Given the description of an element on the screen output the (x, y) to click on. 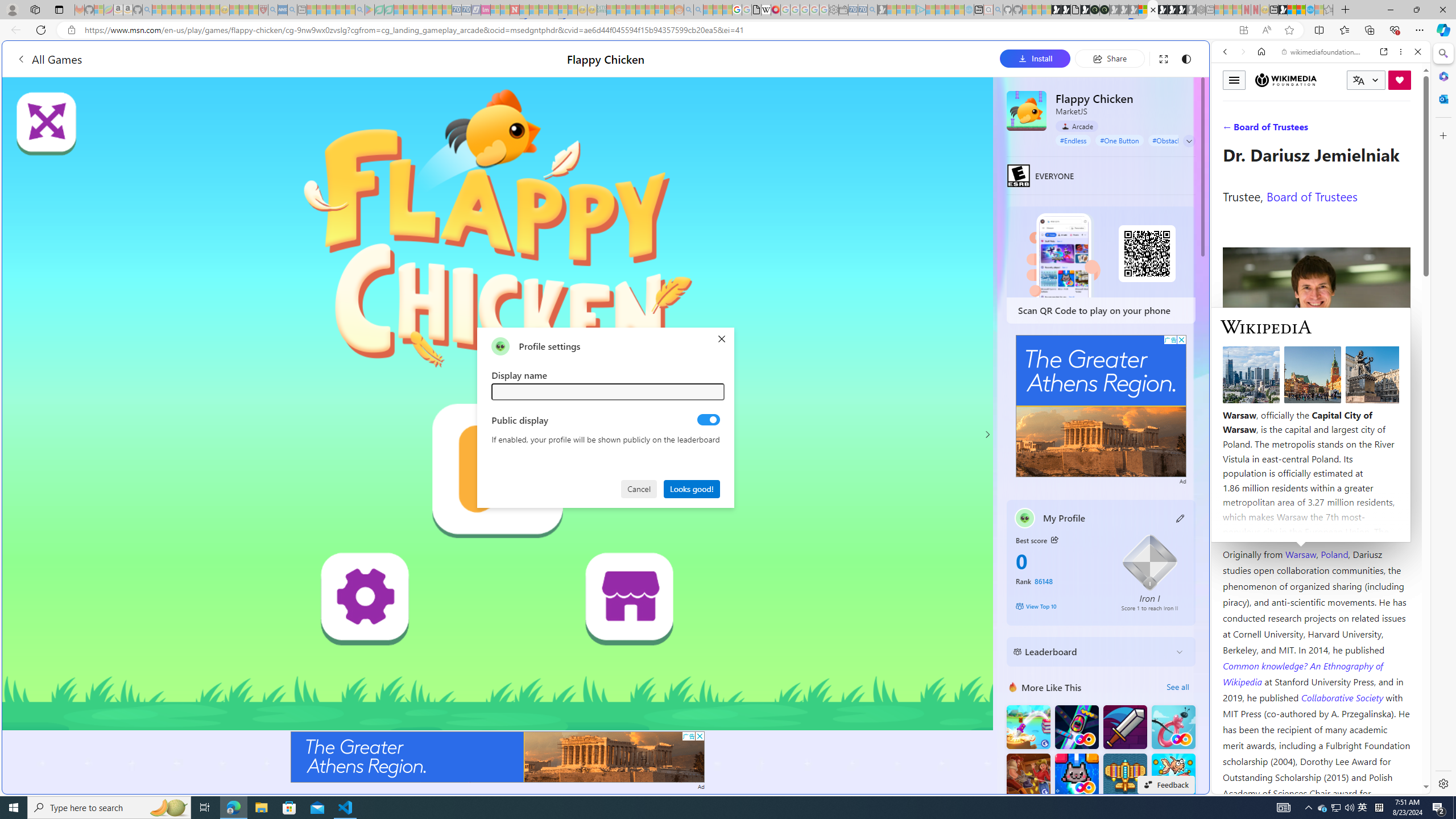
Cheap Car Rentals - Save70.com - Sleeping (862, 9)
Advertisement (1101, 405)
All Games (212, 58)
list of asthma inhalers uk - Search - Sleeping (272, 9)
wikimediafoundation.org (1323, 51)
